Given the description of an element on the screen output the (x, y) to click on. 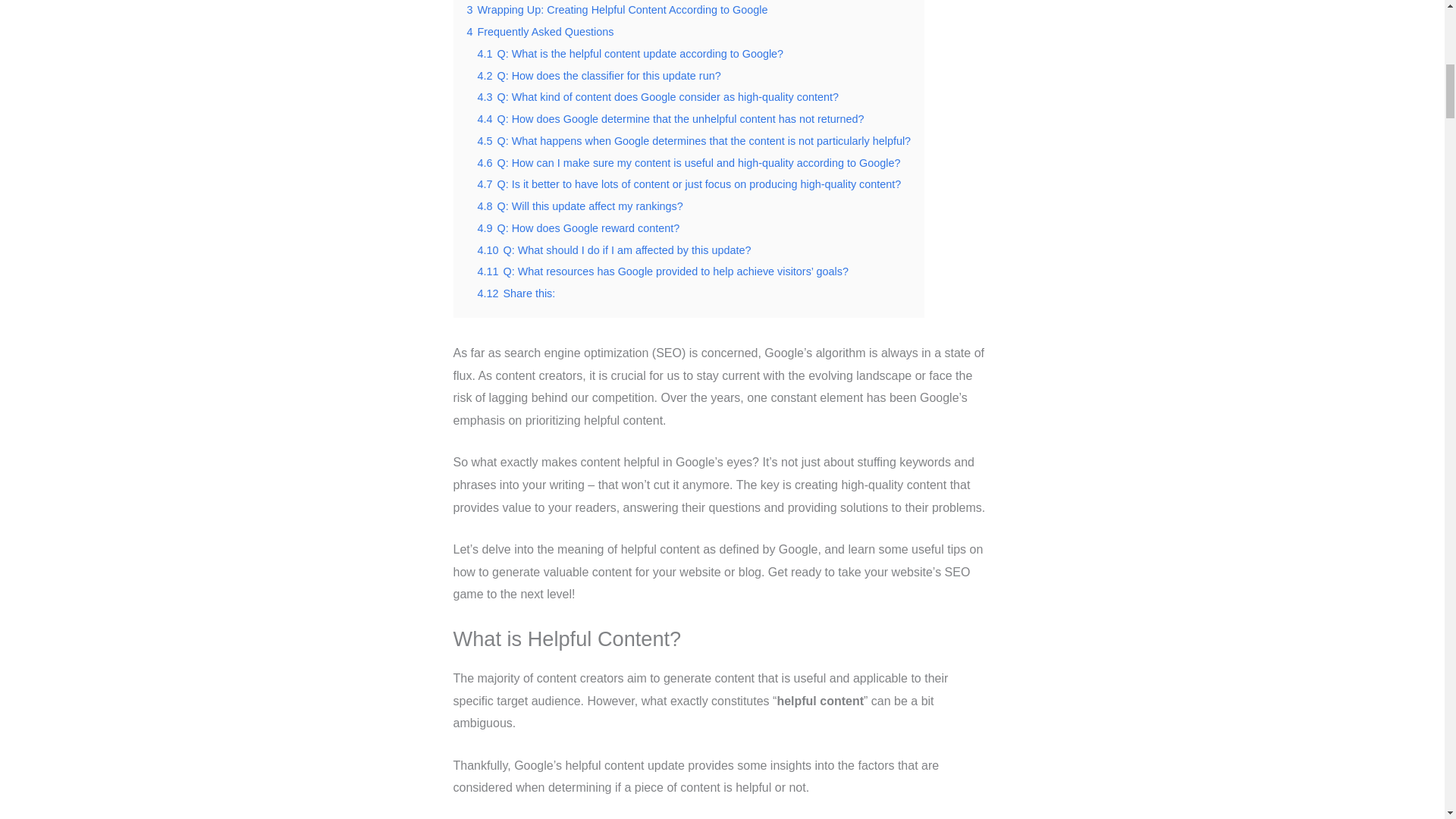
3 Wrapping Up: Creating Helpful Content According to Google (617, 9)
4.2 Q: How does the classifier for this update run? (598, 75)
4 Frequently Asked Questions (540, 31)
